Given the description of an element on the screen output the (x, y) to click on. 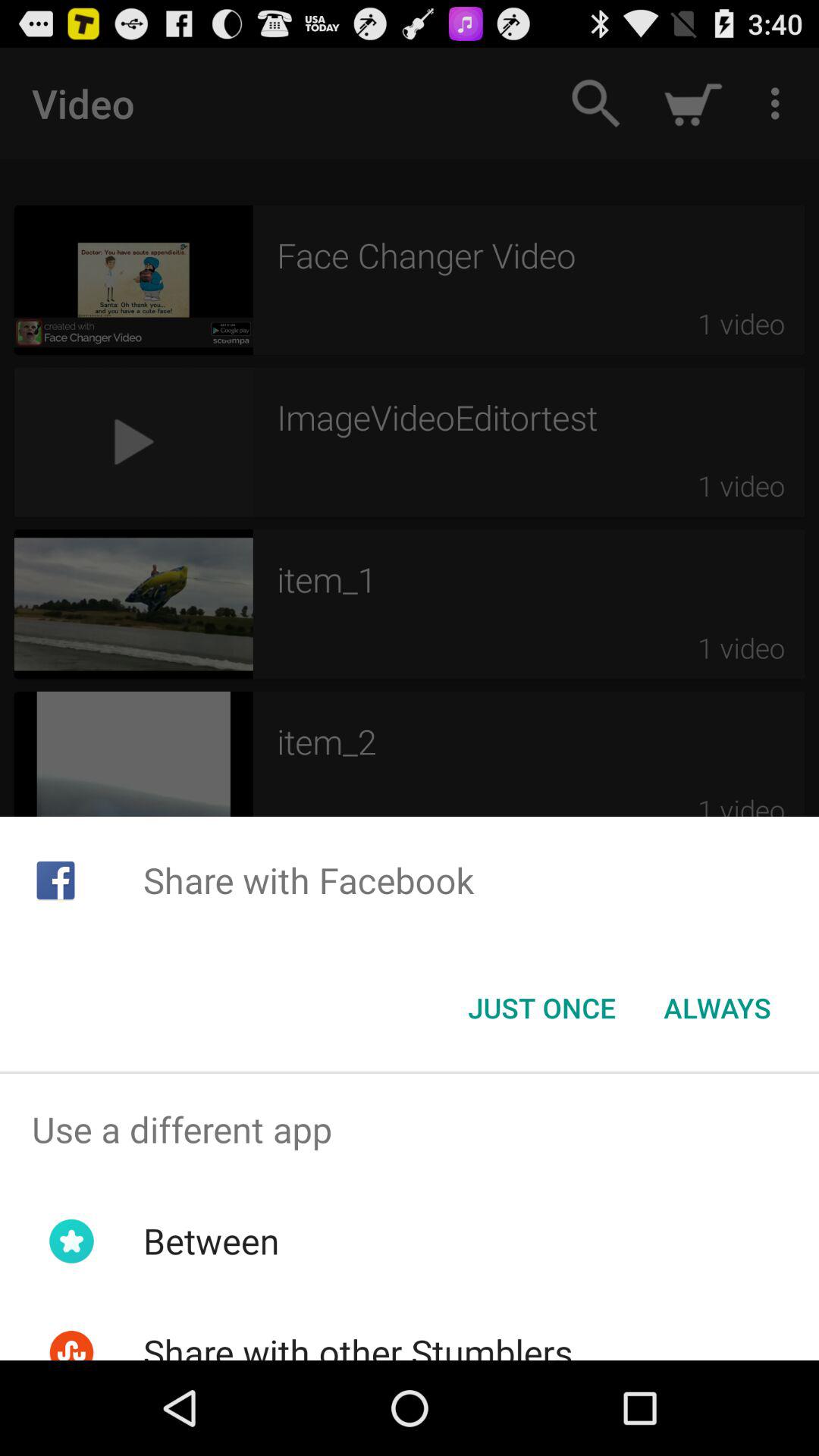
launch icon next to always item (541, 1007)
